Given the description of an element on the screen output the (x, y) to click on. 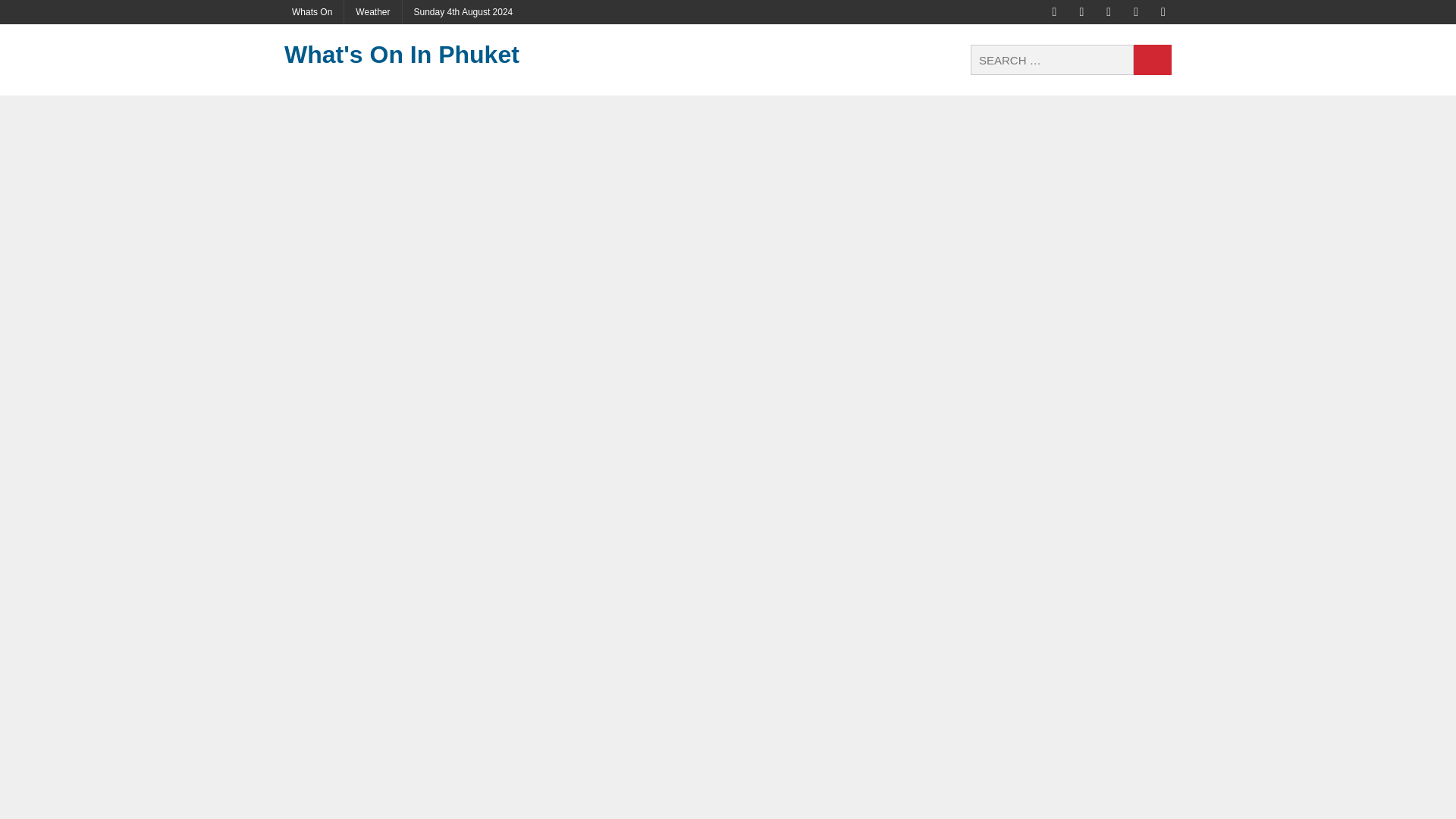
Whats On (312, 12)
Search (1153, 60)
What's On In Phuket (423, 55)
Search (1153, 60)
Weather (372, 12)
Search (1153, 60)
What'S On In Phuket (423, 55)
Sunday 4th August 2024 (462, 12)
